Given the description of an element on the screen output the (x, y) to click on. 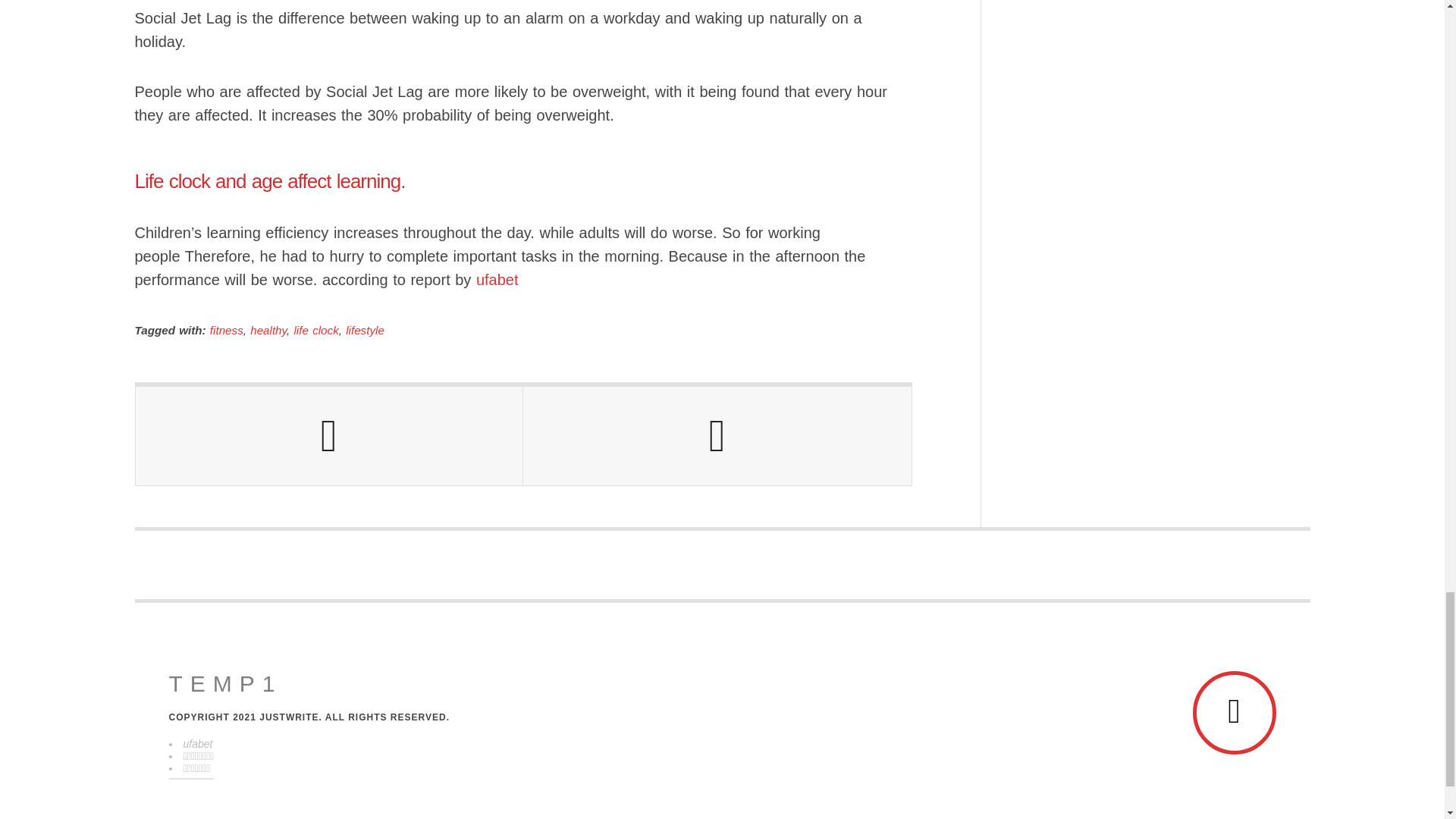
Next Post (716, 435)
ufabet (497, 279)
healthy (268, 329)
caymanislandshospital.com (225, 683)
Previous Post (328, 435)
life clock (316, 329)
lifestyle (365, 329)
fitness (226, 329)
